Given the description of an element on the screen output the (x, y) to click on. 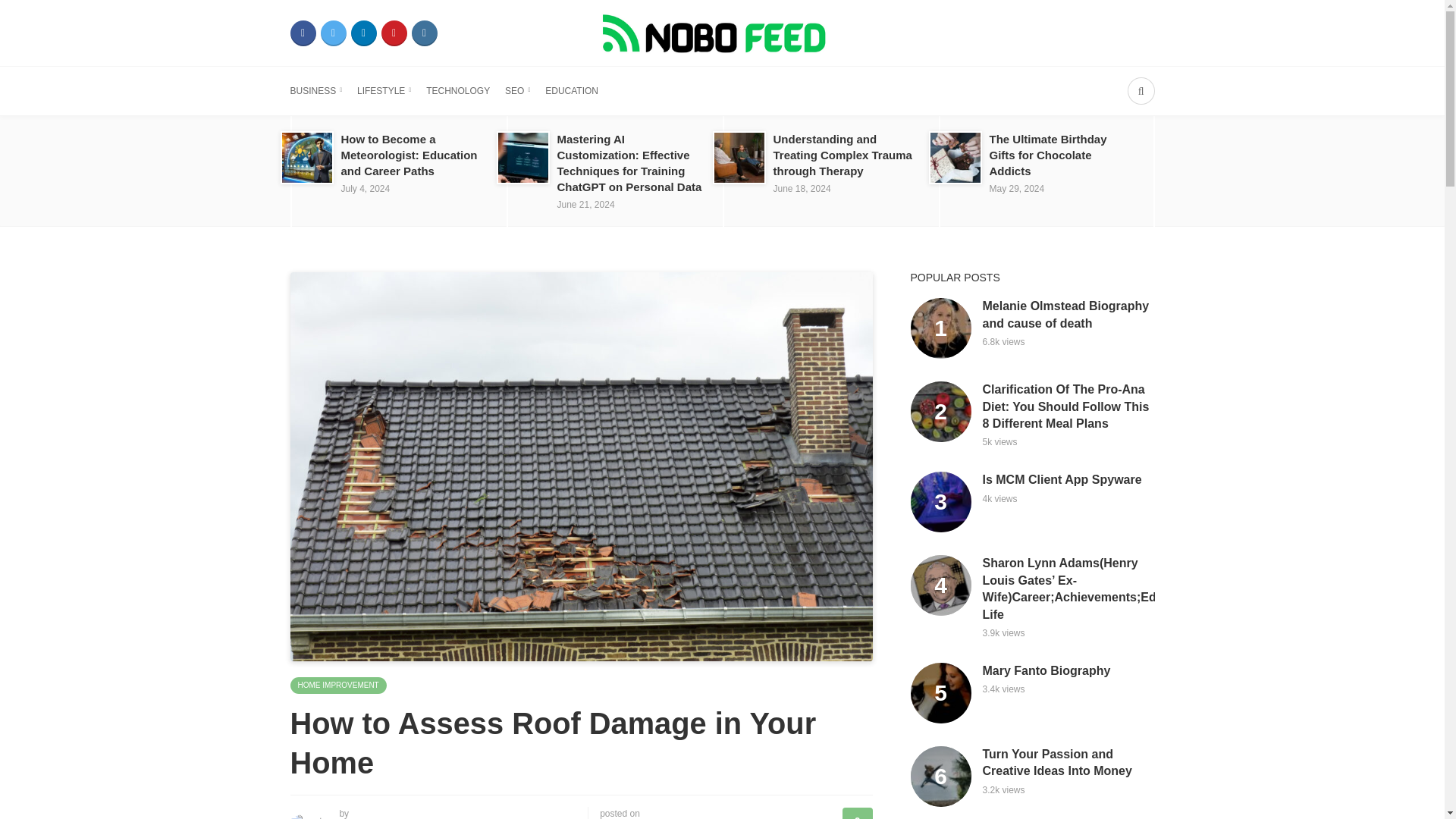
TECHNOLOGY (457, 90)
May 29, 2024 (1015, 188)
EDUCATION (571, 90)
June 21, 2024 (585, 204)
How to Become a Meteorologist: Education and Career Paths (408, 154)
Pinterest (393, 32)
BUSINESS (315, 90)
twitter (333, 32)
July 4, 2024 (365, 188)
Linkedin (362, 32)
Instagram (423, 32)
View all posts in Home Improvement (337, 685)
facebook (302, 32)
LIFESTYLE (383, 90)
Nobofeed (721, 32)
